Given the description of an element on the screen output the (x, y) to click on. 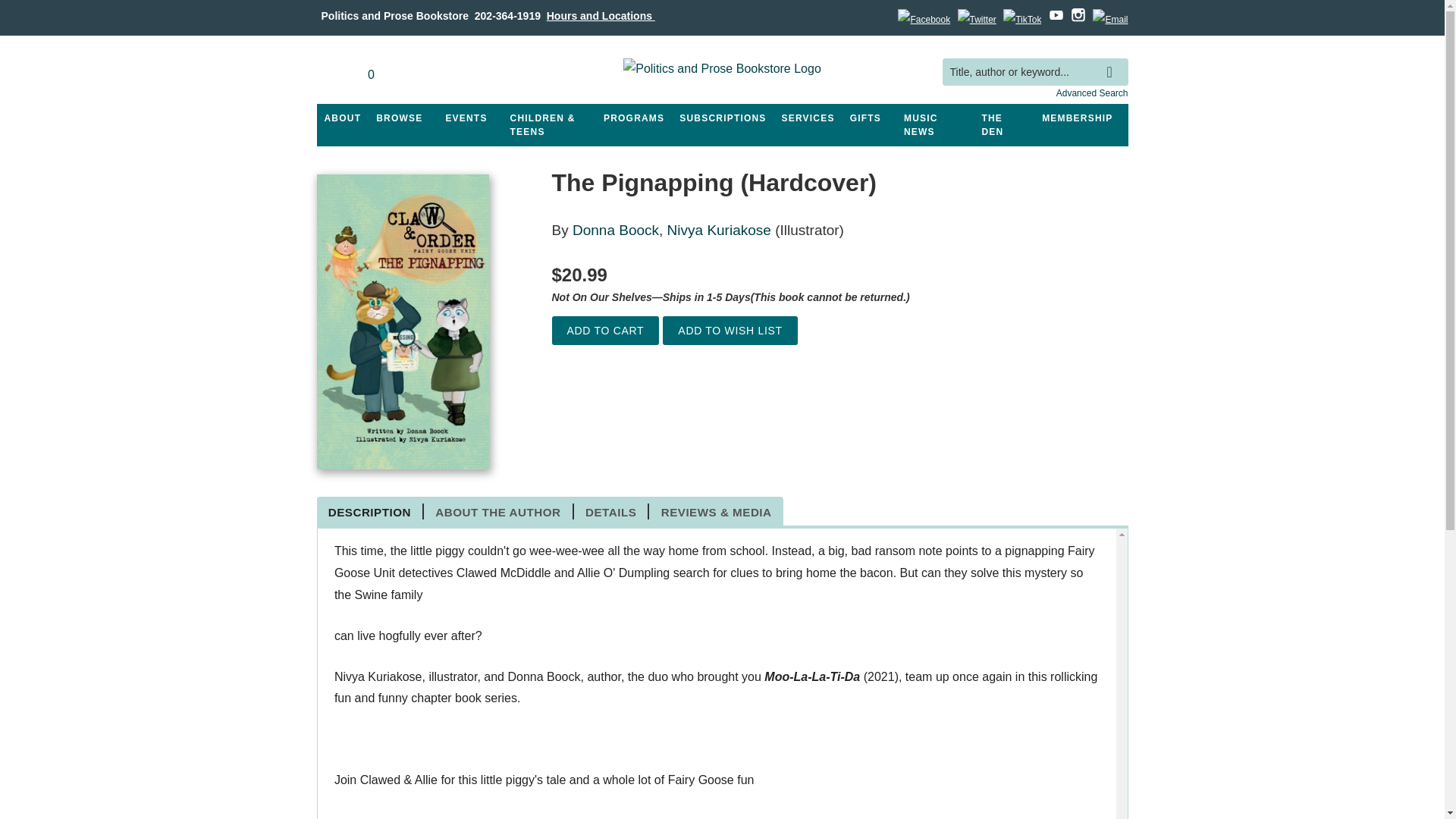
ABOUT (343, 118)
See our event calendar (465, 118)
PROGRAMS (633, 118)
Home (722, 71)
See information about our programs (633, 118)
Hours and Locations  (601, 15)
SERVICES (808, 118)
Add to Cart (605, 330)
Children and Teens Department (548, 125)
search (1112, 60)
Title, author or keyword... (1034, 72)
Advanced Search (1092, 92)
Browse our shelves (398, 118)
EVENTS (465, 118)
